Given the description of an element on the screen output the (x, y) to click on. 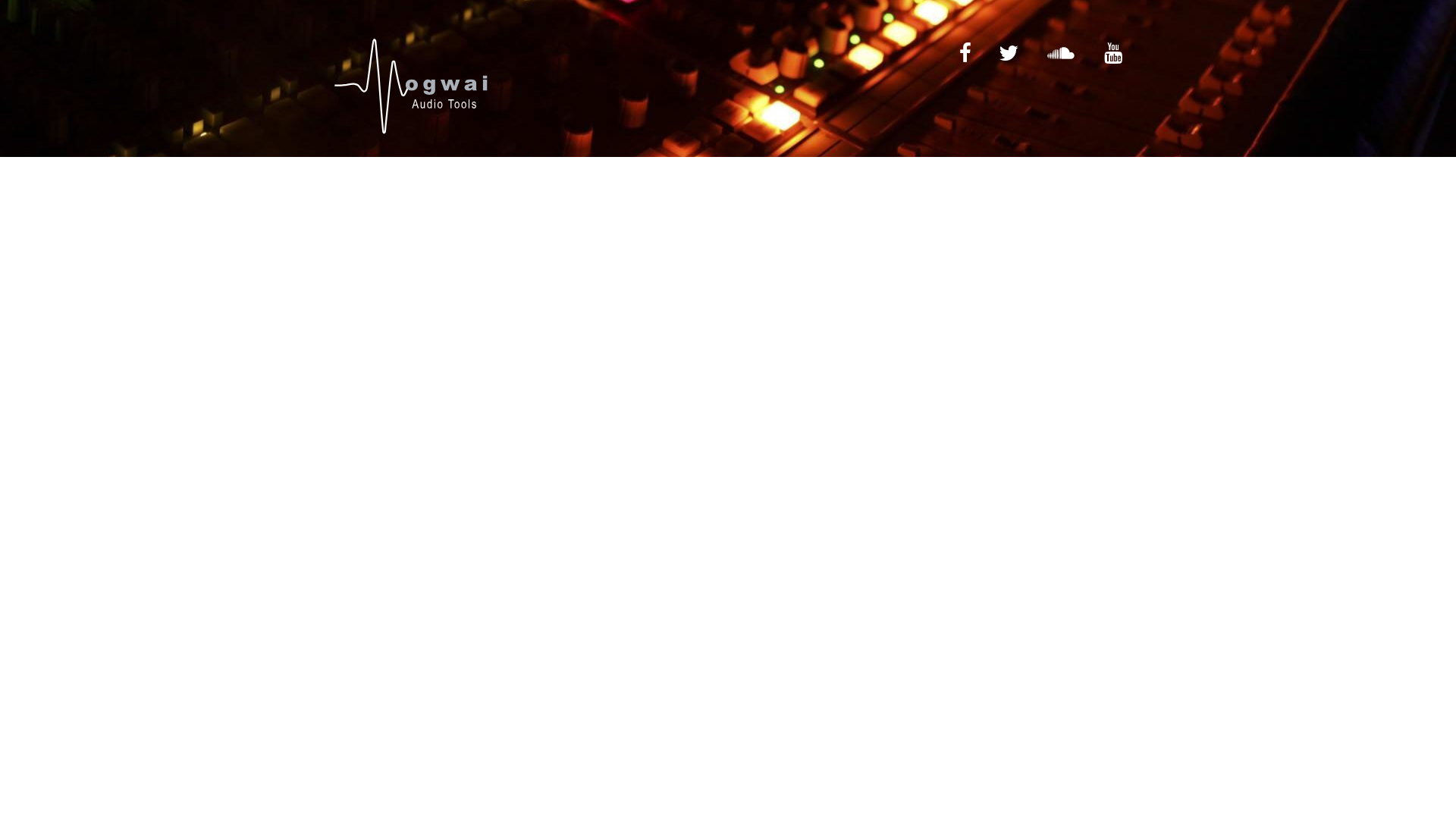
Skip to navigation Element type: text (323, 31)
T Element type: text (1005, 52)
S Element type: text (1057, 52)
F Element type: text (961, 52)
U Element type: text (1108, 52)
